Given the description of an element on the screen output the (x, y) to click on. 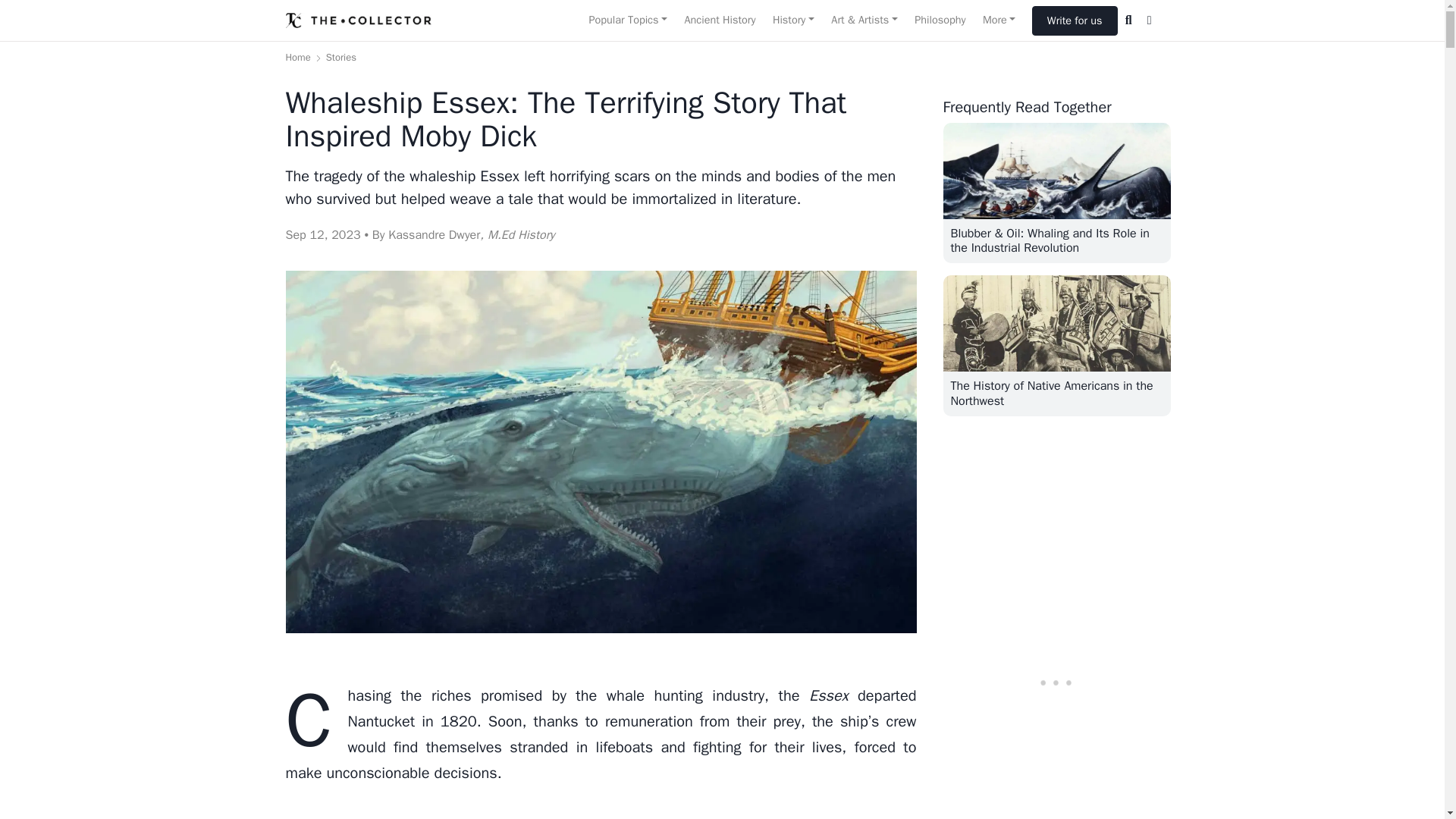
Write for us (1075, 20)
Ancient History (718, 20)
History (793, 20)
More (999, 20)
Philosophy (939, 20)
Popular Topics (627, 20)
